Given the description of an element on the screen output the (x, y) to click on. 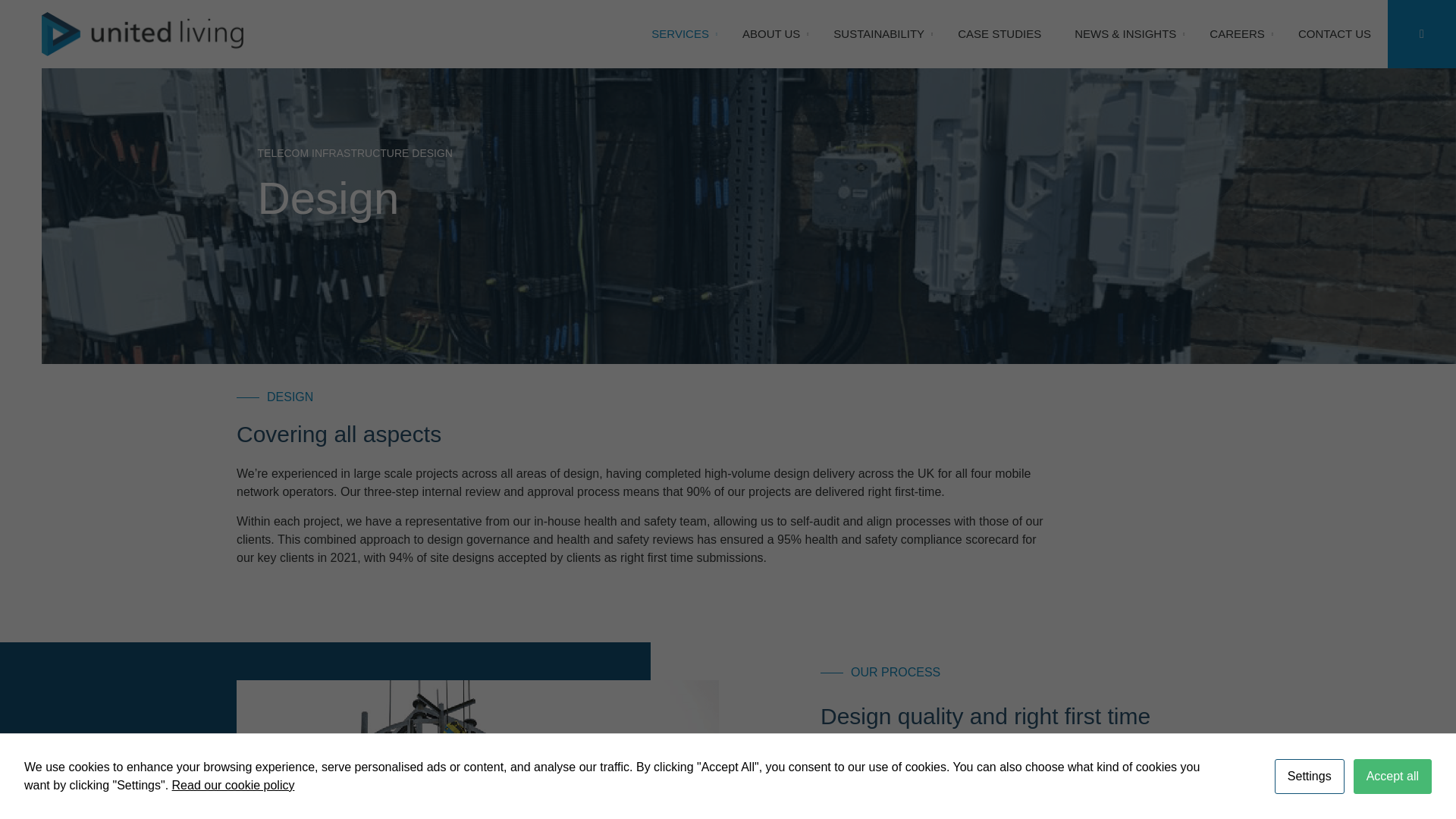
ABOUT US (771, 33)
SERVICES (679, 33)
CASE STUDIES (999, 33)
SUSTAINABILITY (878, 33)
